Given the description of an element on the screen output the (x, y) to click on. 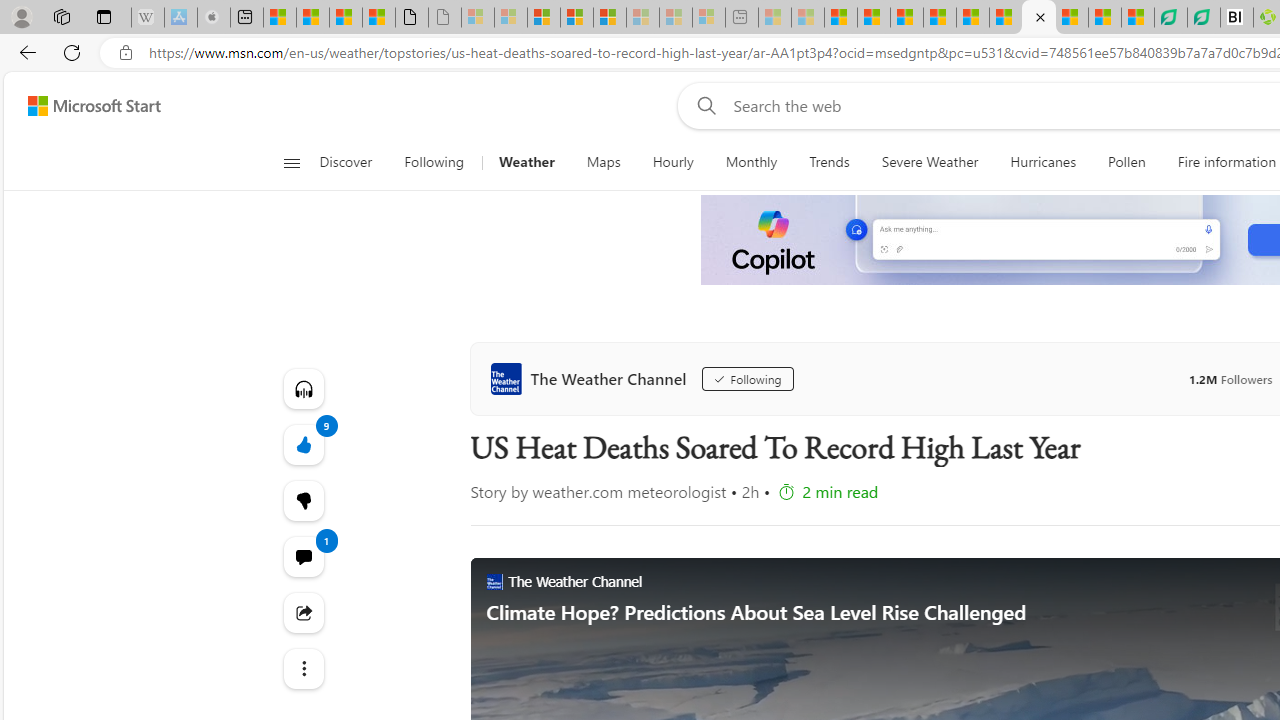
Sign in to your Microsoft account - Sleeping (478, 17)
Aberdeen, Hong Kong SAR weather forecast | Microsoft Weather (312, 17)
Trends (829, 162)
9 Like (302, 444)
Foo BAR | Trusted Community Engagement and Contributions (1005, 17)
